Given the description of an element on the screen output the (x, y) to click on. 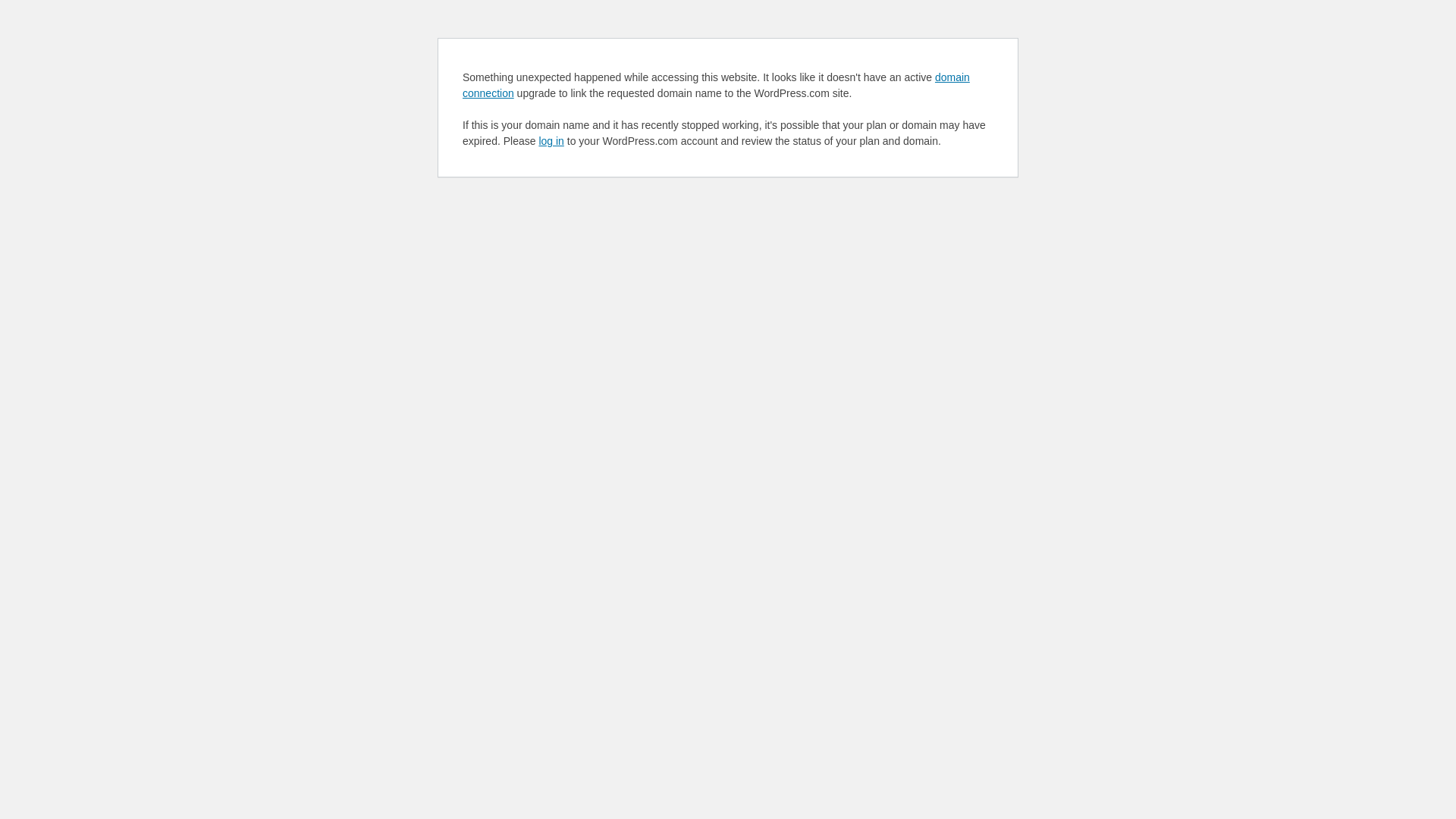
domain connection Element type: text (715, 85)
log in Element type: text (550, 140)
